Given the description of an element on the screen output the (x, y) to click on. 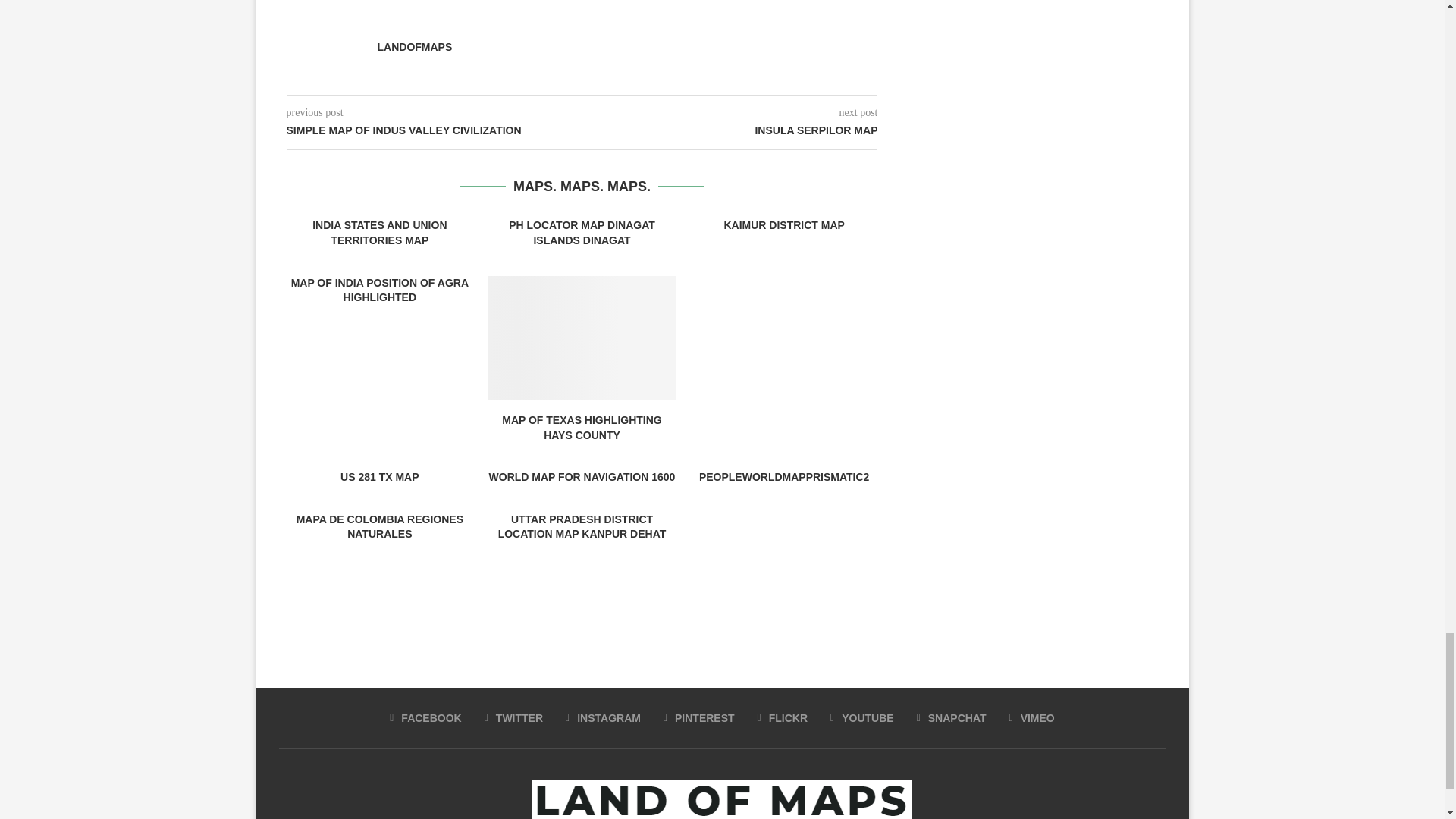
Author landofmaps (414, 47)
Map Of Texas Highlighting Hays County (581, 338)
